Given the description of an element on the screen output the (x, y) to click on. 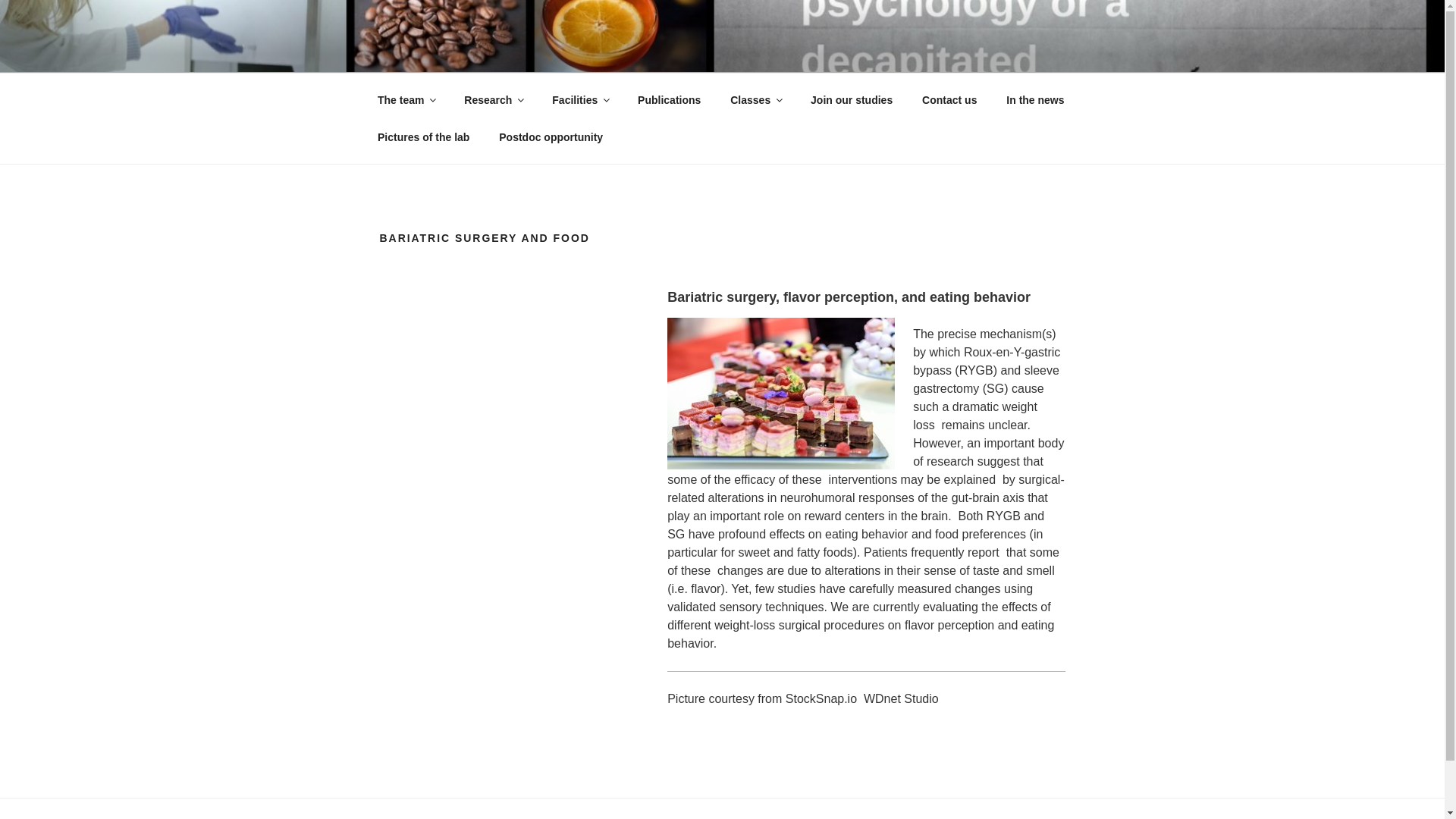
The team (405, 99)
Postdoc opportunity (550, 136)
PEPINO LAB (472, 52)
Join our studies (851, 99)
In the news (1034, 99)
Research (493, 99)
Publications (669, 99)
Classes (755, 99)
Pictures of the lab (422, 136)
Facilities (579, 99)
Contact us (949, 99)
